Given the description of an element on the screen output the (x, y) to click on. 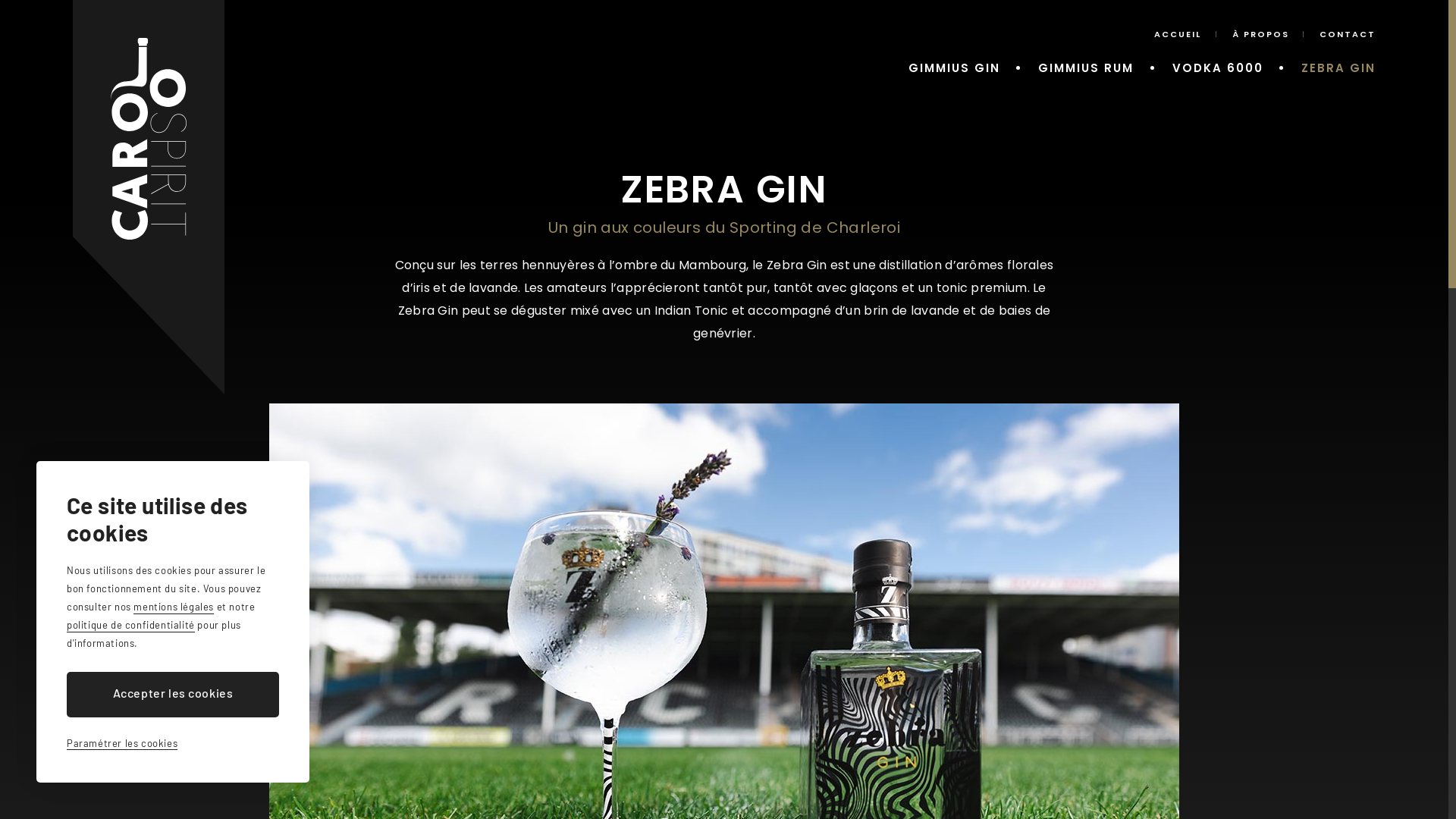
VODKA 6000 Element type: text (1217, 68)
Carolo Spirit Element type: hover (148, 197)
GIMMIUS GIN Element type: text (954, 68)
ZEBRA GIN Element type: text (1338, 68)
CONTACT Element type: text (1347, 33)
ACCUEIL Element type: text (1177, 33)
GIMMIUS RUM Element type: text (1085, 68)
